Given the description of an element on the screen output the (x, y) to click on. 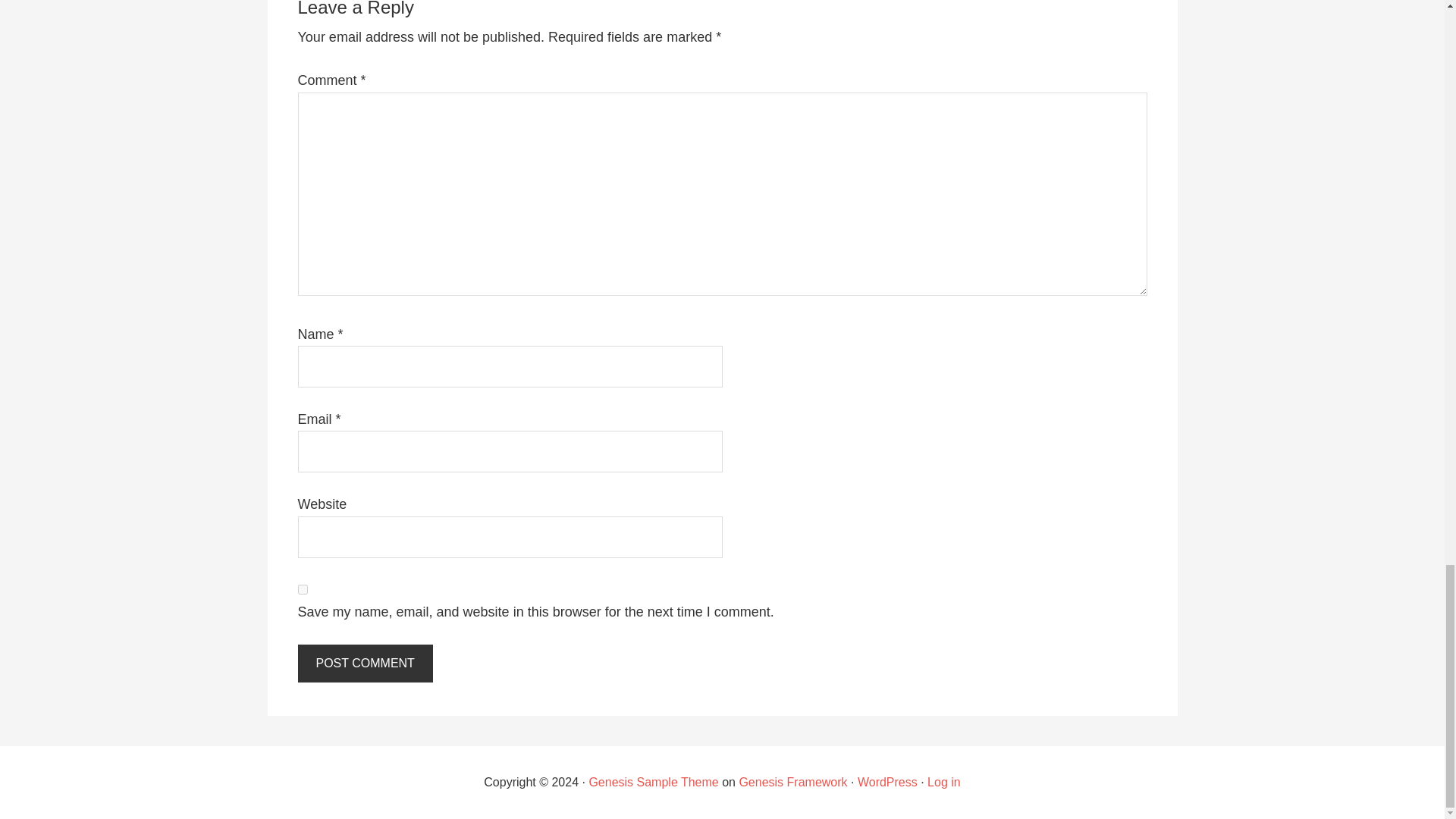
Log in (943, 781)
Post Comment (364, 663)
Genesis Framework (792, 781)
WordPress (887, 781)
yes (302, 589)
Post Comment (364, 663)
Genesis Sample Theme (652, 781)
